Given the description of an element on the screen output the (x, y) to click on. 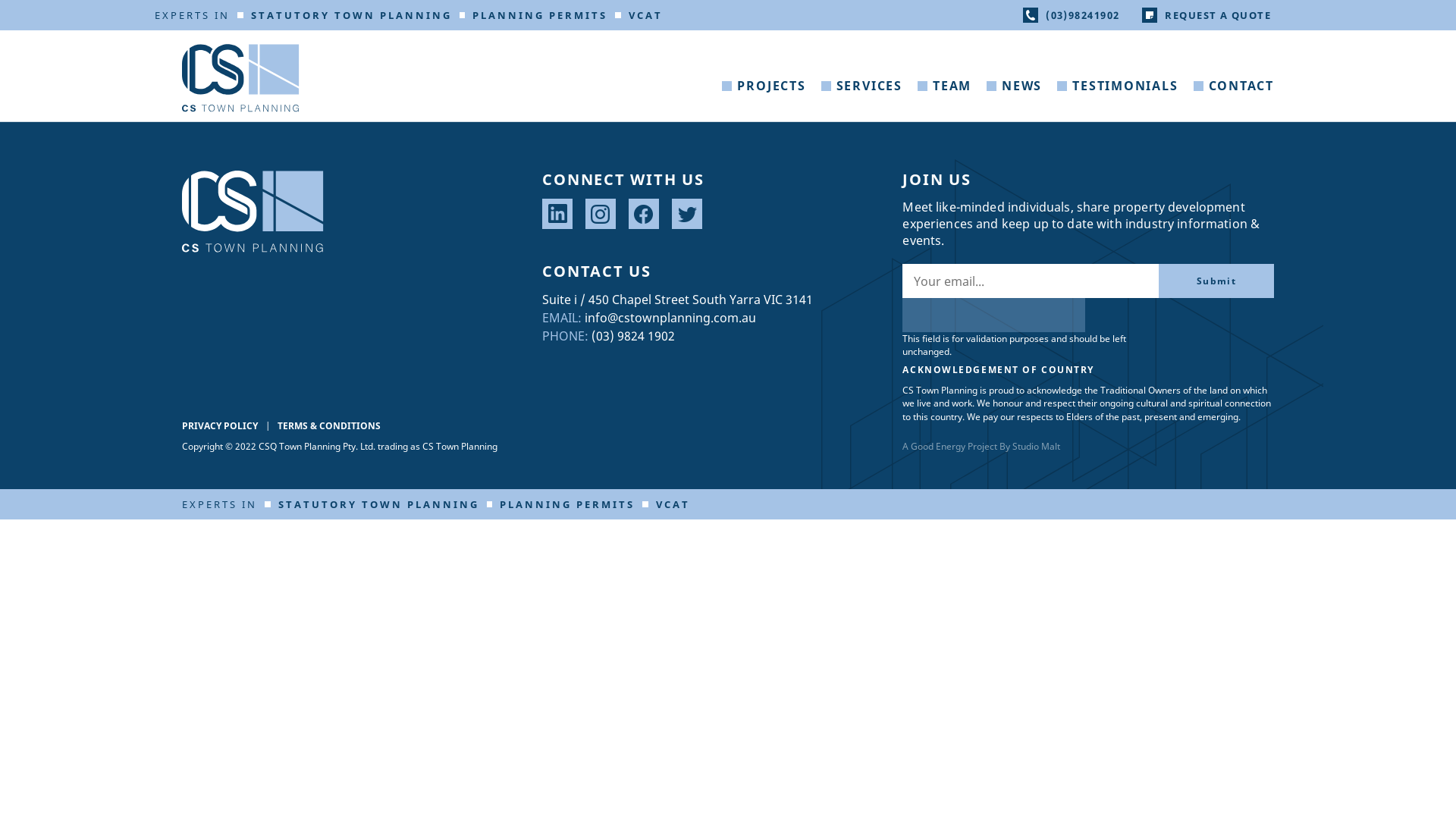
TERMS & CONDITIONS Element type: text (328, 425)
PHONE: Element type: text (565, 335)
TEAM Element type: text (944, 96)
PRIVACY POLICY Element type: text (219, 425)
A Good Energy Project By Studio Malt Element type: text (981, 445)
TESTIMONIALS Element type: text (1117, 96)
(03)98241902 Element type: text (1070, 14)
PROJECTS Element type: text (763, 96)
CONTACT Element type: text (1233, 96)
EMAIL: Element type: text (561, 317)
SERVICES Element type: text (861, 96)
Submit Element type: text (1216, 280)
(03) 9824 1902 Element type: text (632, 335)
REQUEST A QUOTE Element type: text (1206, 14)
NEWS Element type: text (1013, 96)
